Given the description of an element on the screen output the (x, y) to click on. 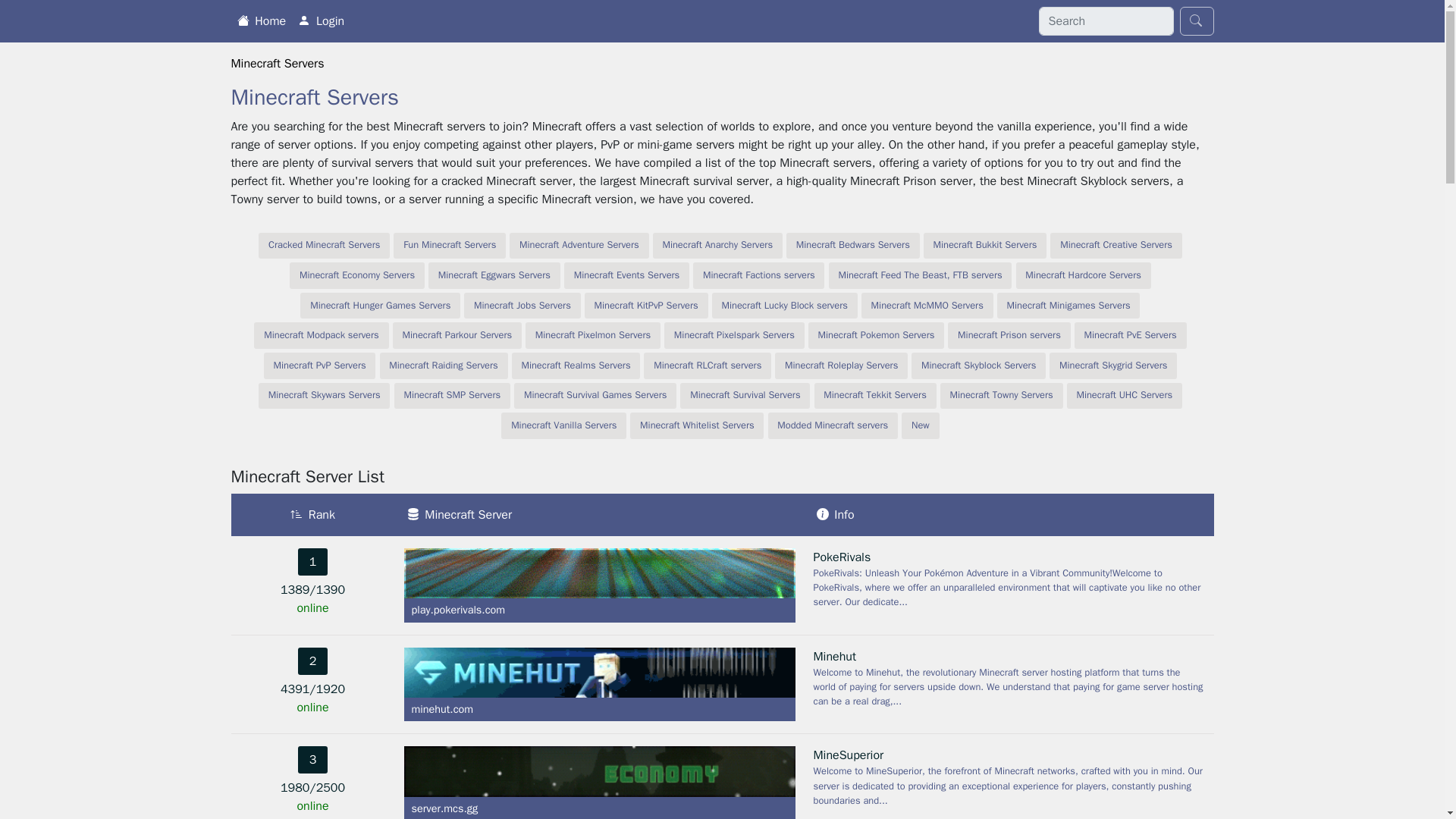
Minecraft Factions servers (758, 275)
Home (261, 20)
Fun Minecraft Servers (449, 245)
Minecraft Roleplay Servers (840, 365)
Minecraft Bukkit Servers (984, 245)
Minecraft Survival Games Servers (595, 396)
Minecraft PvP Servers (319, 365)
Minecraft RLCraft servers (707, 365)
Minecraft Anarchy Servers (717, 245)
Minecraft Minigames Servers (1068, 305)
